Given the description of an element on the screen output the (x, y) to click on. 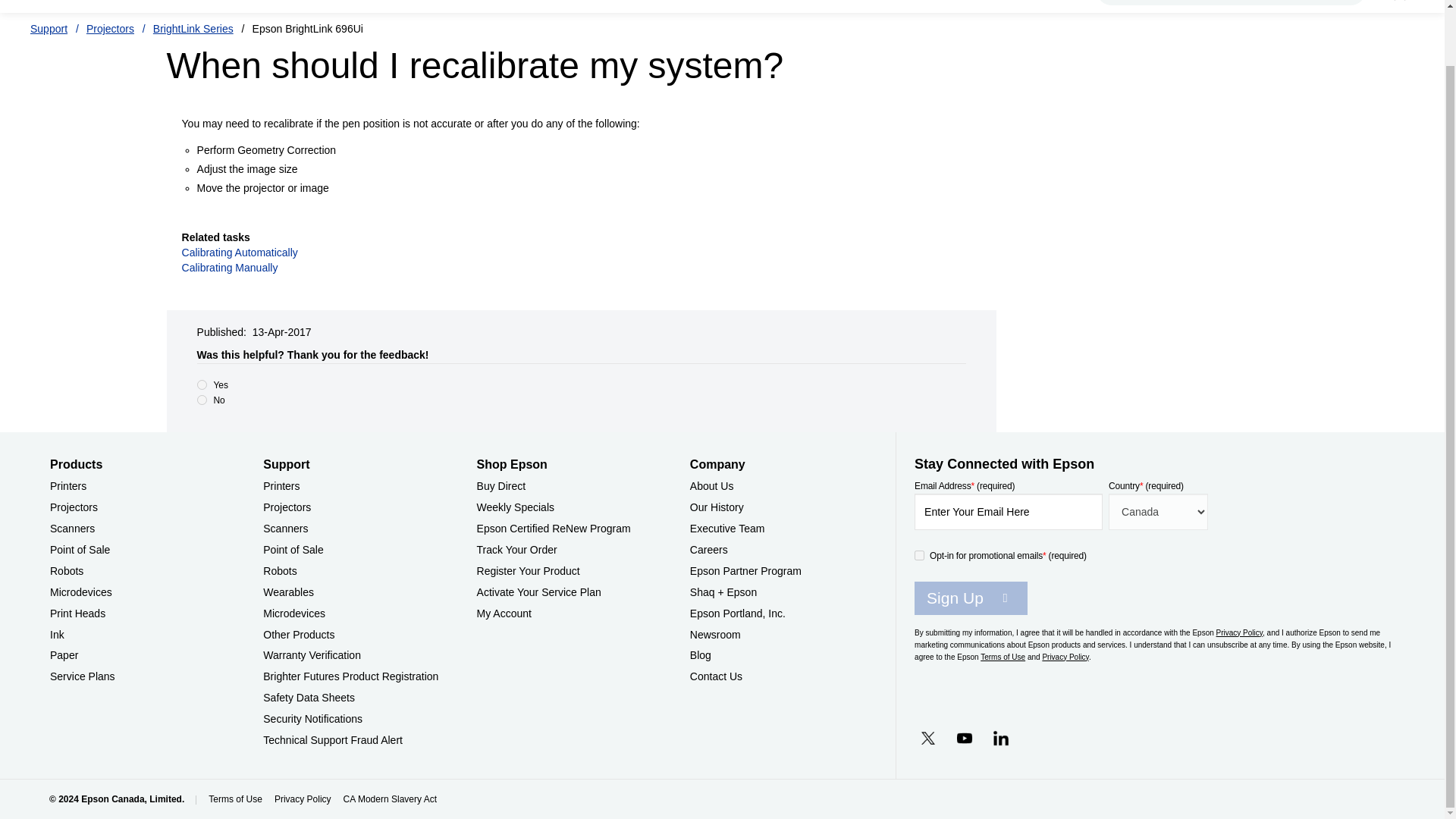
no (201, 399)
on (919, 555)
yes (201, 384)
